Given the description of an element on the screen output the (x, y) to click on. 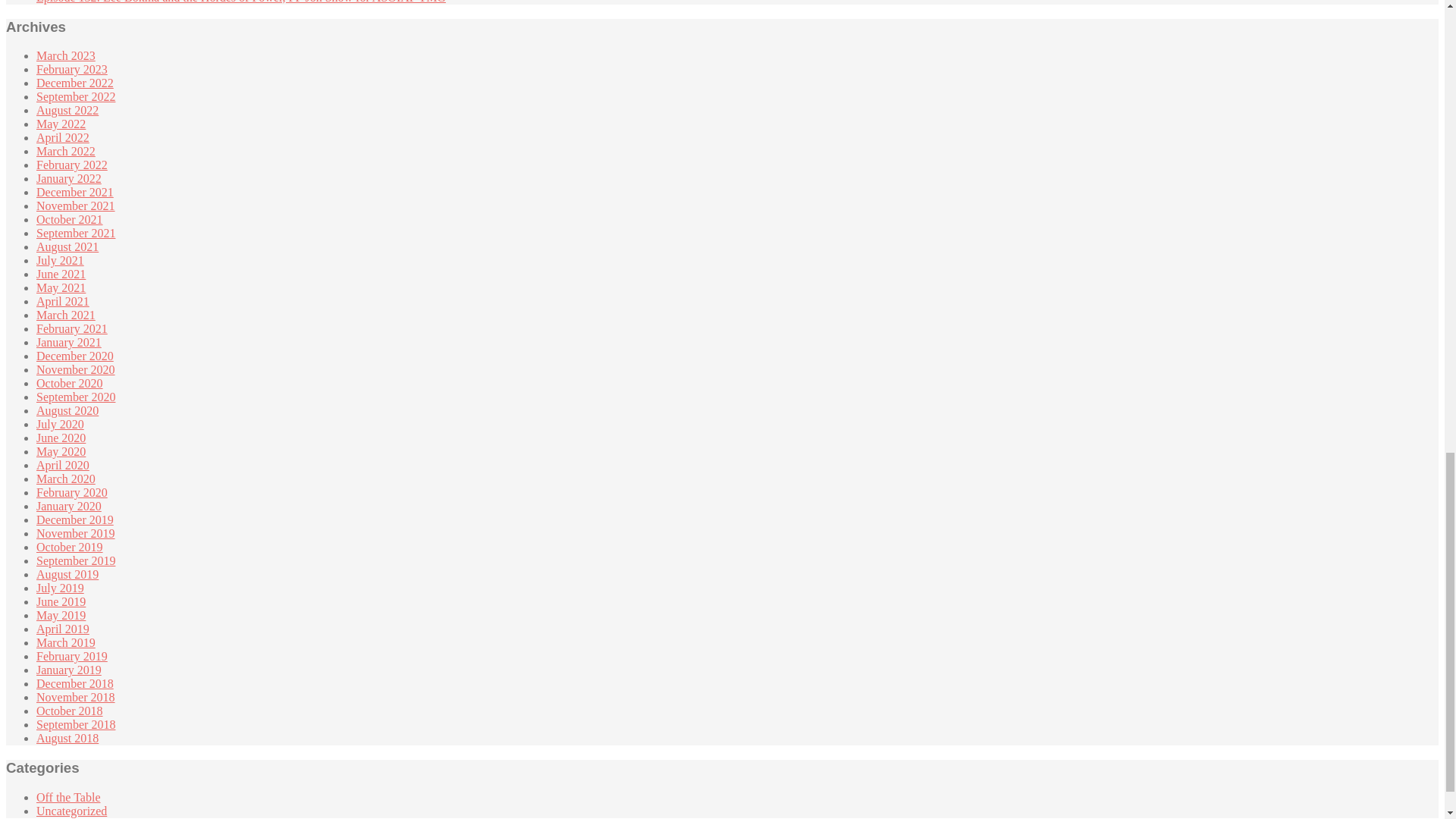
August 2021 (67, 246)
February 2022 (71, 164)
September 2021 (75, 232)
June 2021 (60, 273)
July 2021 (60, 259)
April 2022 (62, 137)
March 2023 (66, 55)
March 2022 (66, 151)
January 2022 (68, 178)
November 2021 (75, 205)
February 2023 (71, 69)
October 2021 (69, 219)
December 2021 (74, 192)
May 2022 (60, 123)
